Given the description of an element on the screen output the (x, y) to click on. 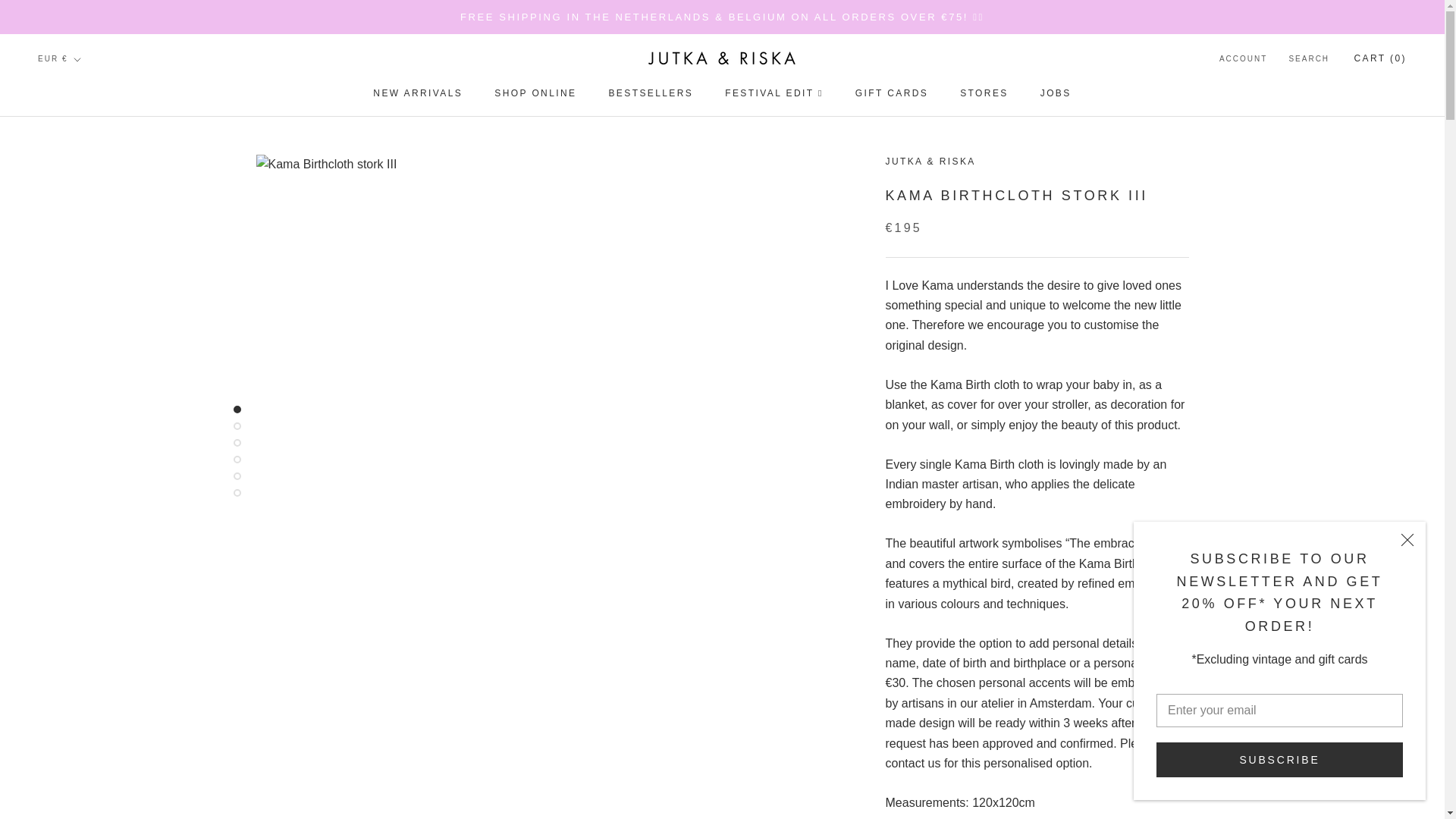
SUBSCRIBE (1279, 759)
